Given the description of an element on the screen output the (x, y) to click on. 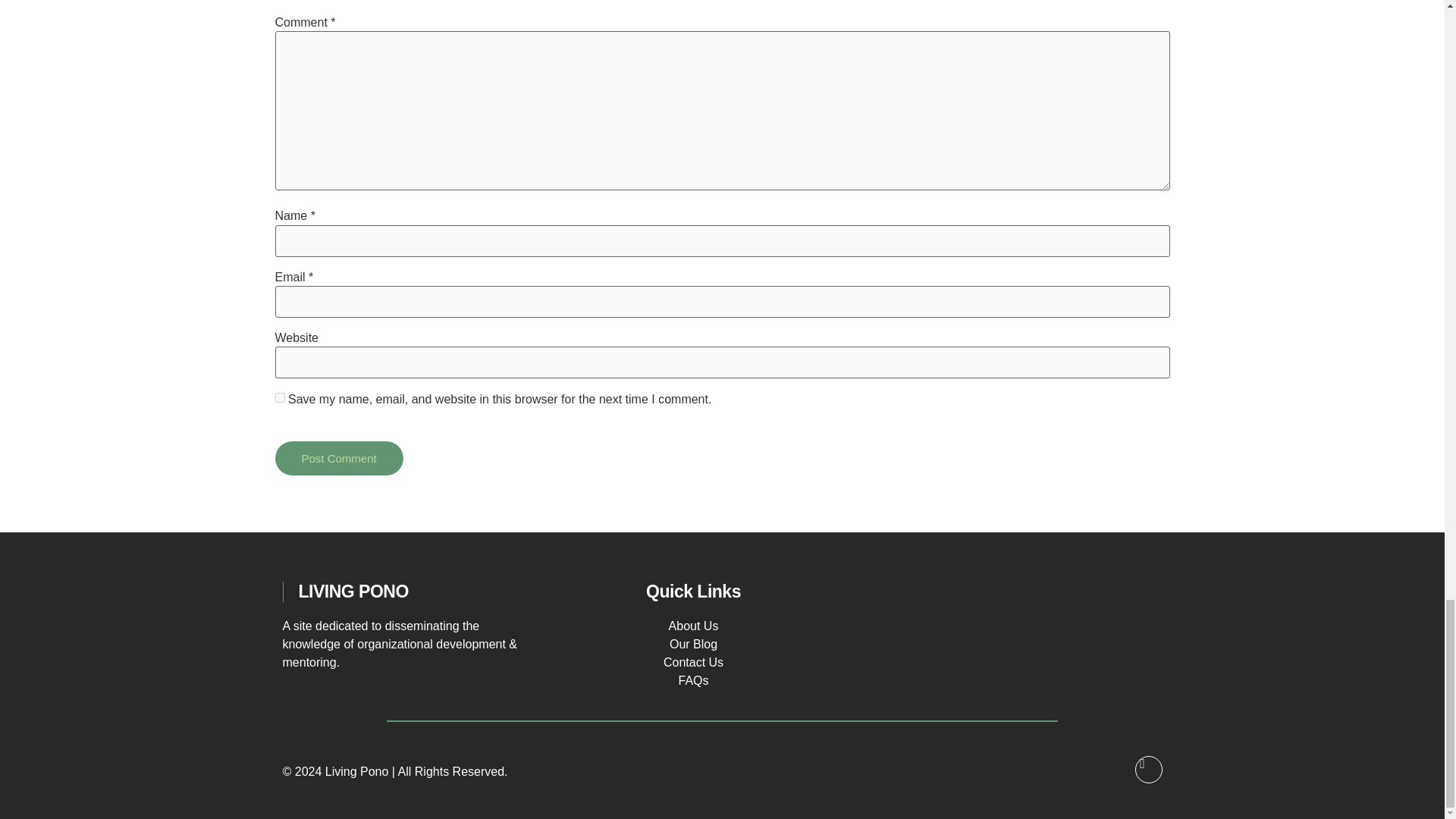
FAQs (692, 680)
Contact Us (693, 662)
About Us (693, 625)
Post Comment (339, 458)
yes (279, 397)
Post Comment (339, 458)
Our Blog (693, 644)
